Given the description of an element on the screen output the (x, y) to click on. 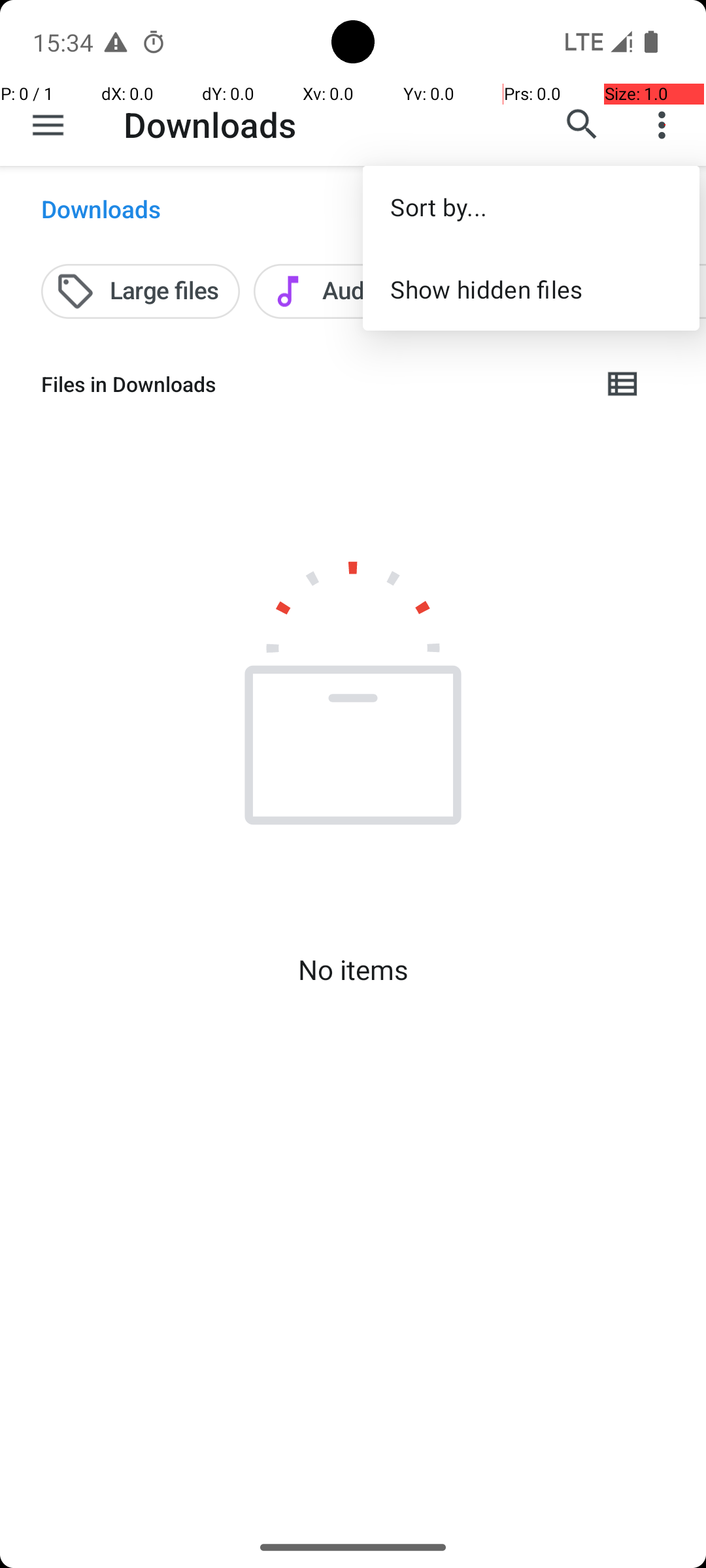
Sort by... Element type: android.widget.TextView (531, 206)
Show hidden files Element type: android.widget.TextView (531, 288)
